Given the description of an element on the screen output the (x, y) to click on. 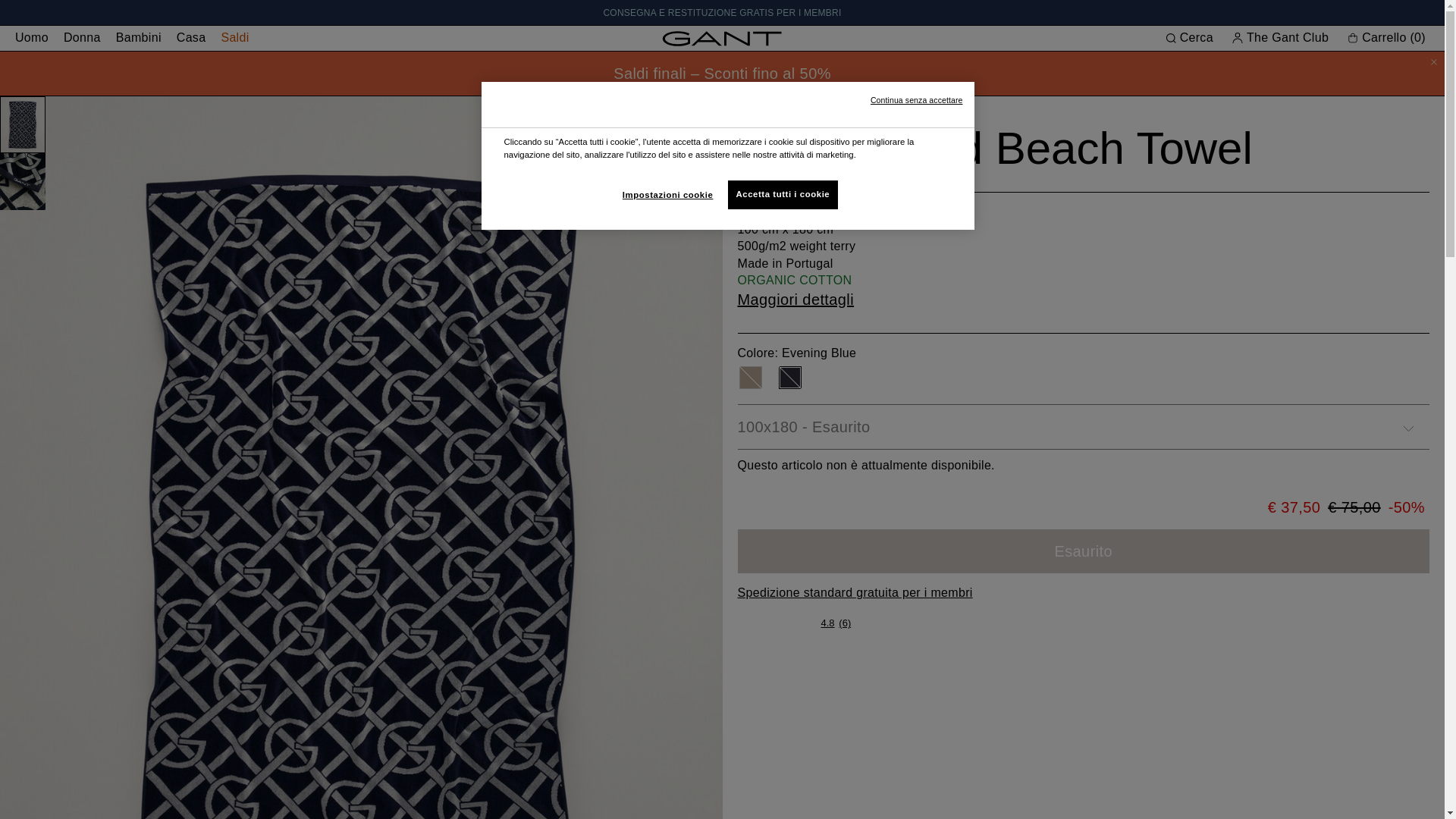
Donna (81, 37)
Category Search Link (721, 12)
DRY SAND (749, 377)
Uomo (31, 37)
0 articoli nel tuo carrello (1388, 37)
EVENING BLUE (788, 377)
CONSEGNA E RESTITUZIONE GRATIS PER I MEMBRI (721, 12)
